Given the description of an element on the screen output the (x, y) to click on. 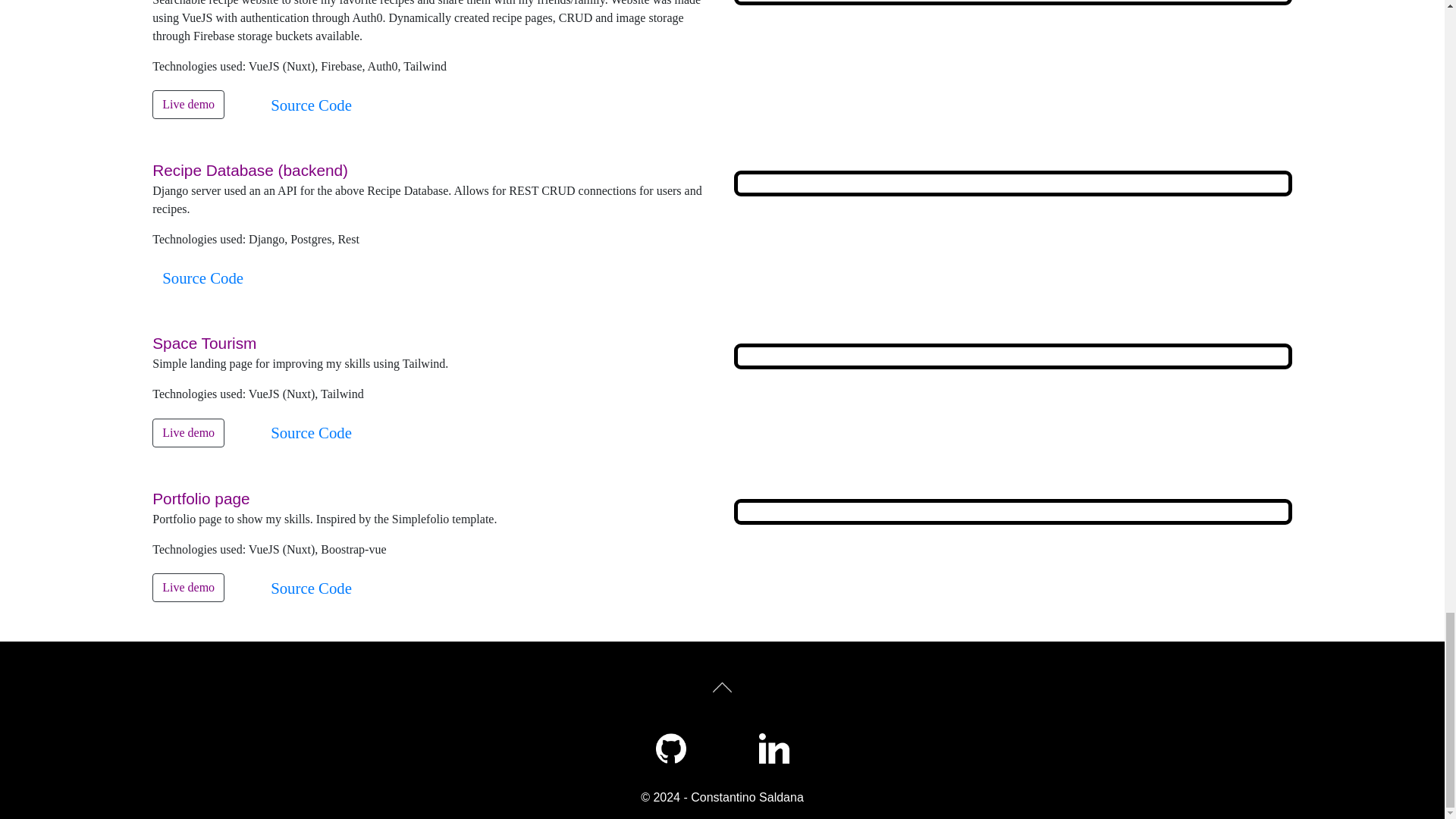
Live demo (188, 587)
Source Code (310, 104)
Live demo (188, 104)
Source Code (310, 587)
Live demo (188, 432)
Github (670, 748)
LinkedIn (773, 748)
Source Code (310, 432)
Source Code (202, 277)
